Given the description of an element on the screen output the (x, y) to click on. 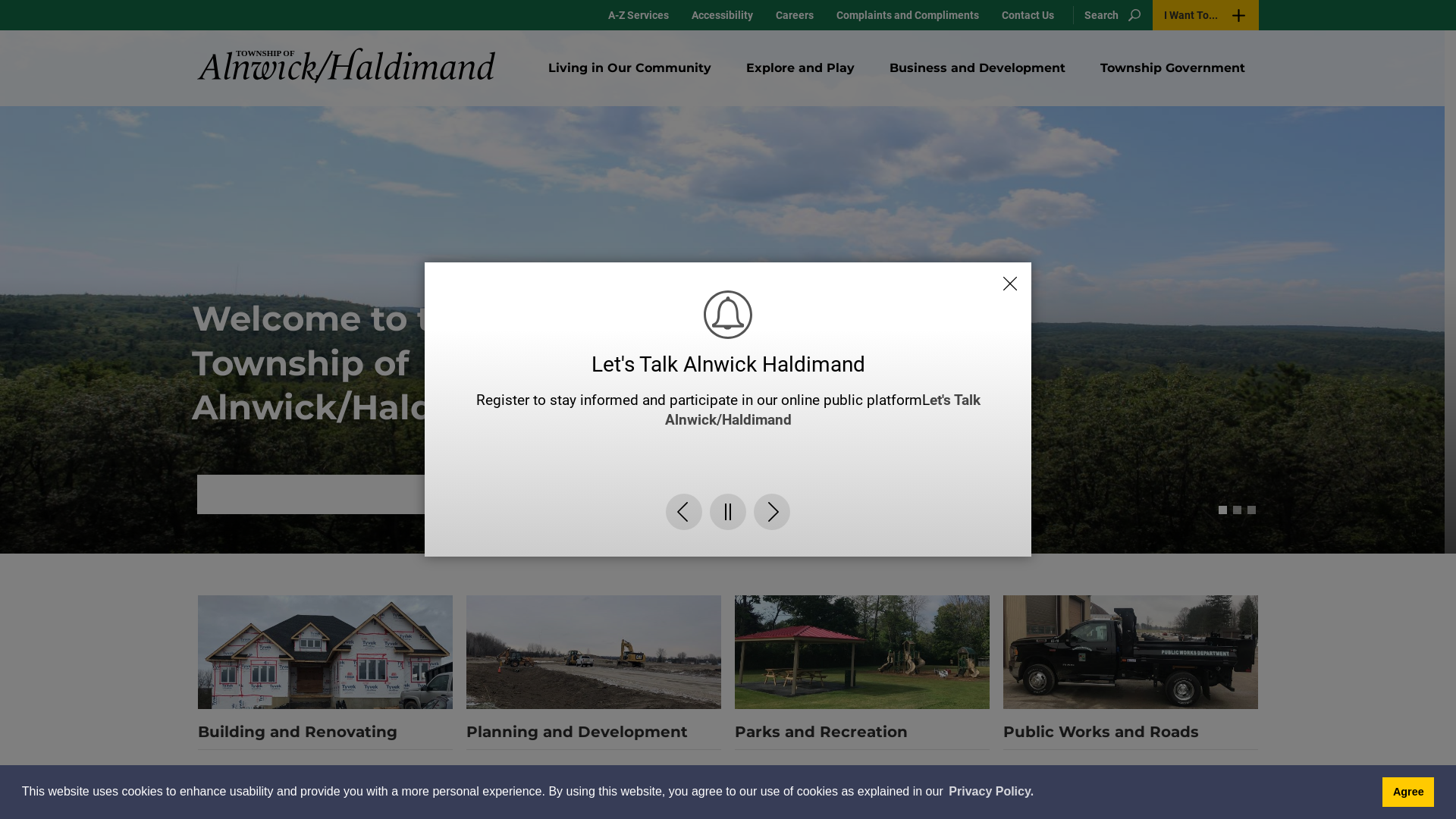
Previous Element type: text (683, 526)
Living in Our Community Element type: text (629, 68)
Agree Element type: text (1408, 791)
Pause Element type: text (727, 526)
Next Element type: text (771, 526)
Contact Us Element type: text (1027, 14)
Skip to Content Element type: text (0, 0)
Close Alert Banner Element type: text (1009, 268)
A-Z Services Element type: text (638, 14)
Explore and Play Element type: text (800, 68)
Business and Development Element type: text (977, 68)
Click to return to the homepage Element type: hover (346, 65)
Township Government Element type: text (1172, 68)
Careers Element type: text (794, 14)
Complaints and Compliments Element type: text (907, 14)
I Want To... Element type: text (1205, 15)
Accessibility Element type: text (722, 14)
Search Element type: text (1108, 15)
Privacy Policy. Element type: text (990, 791)
